Given the description of an element on the screen output the (x, y) to click on. 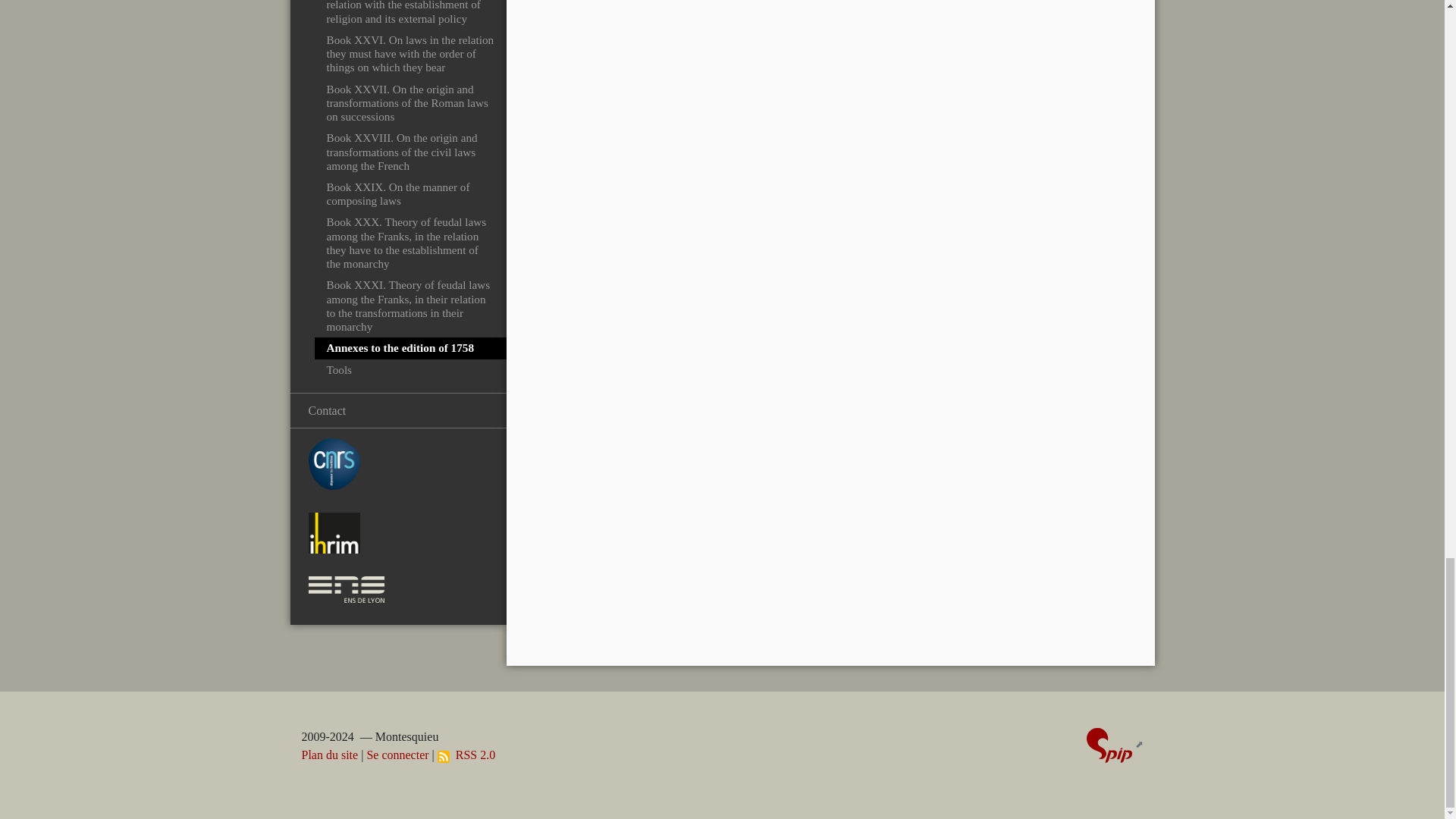
ENS de Lyon (345, 589)
UMR 5317 (333, 532)
SPIP (1109, 745)
CNRS (333, 463)
Suivre la vie du site (443, 756)
Syndiquer tout le site (466, 754)
